Given the description of an element on the screen output the (x, y) to click on. 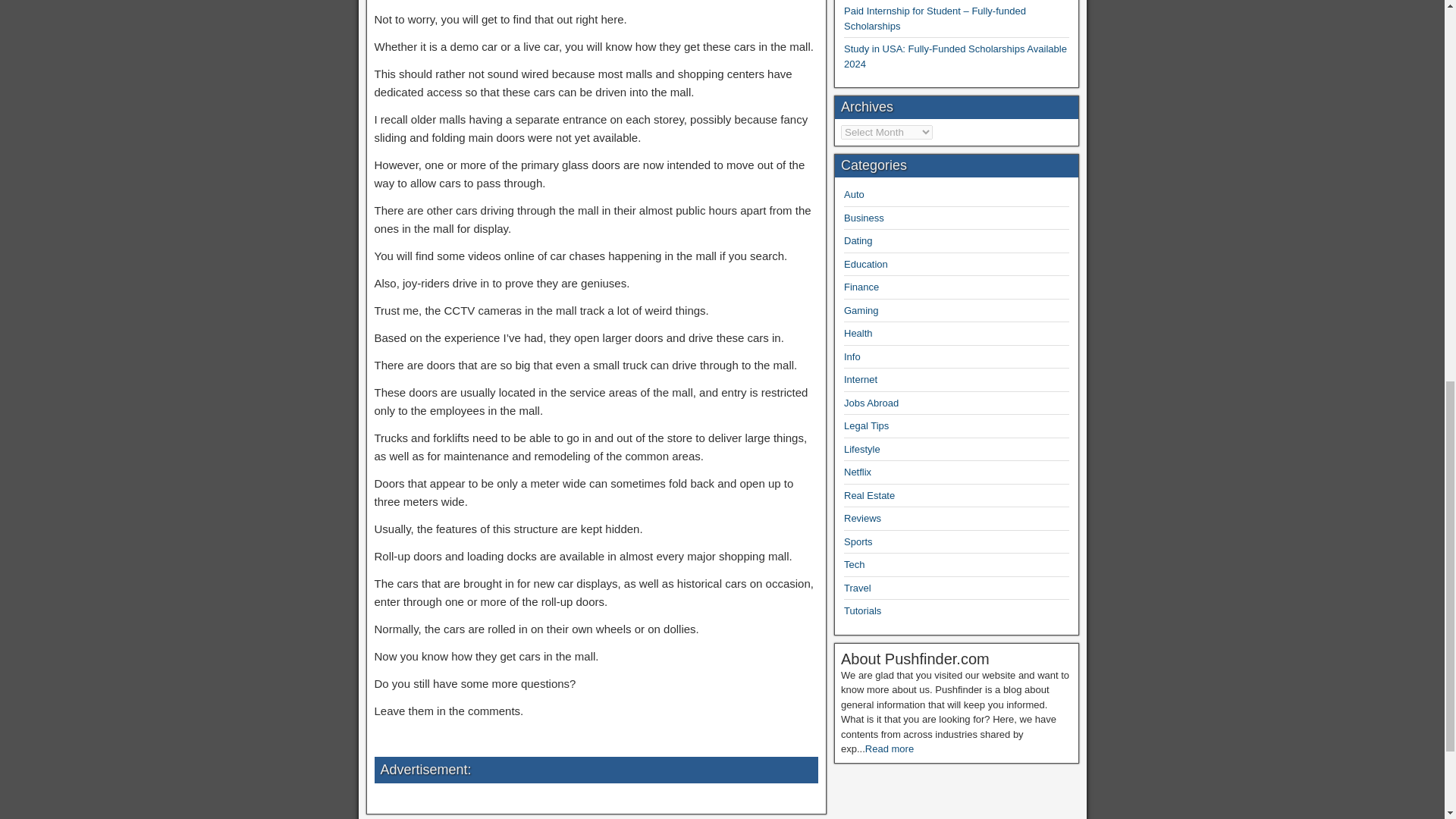
Study in USA: Fully-Funded Scholarships Available 2024 (955, 56)
Business (863, 217)
Health (858, 333)
Gaming (861, 310)
Legal Tips (866, 425)
Internet (860, 378)
Finance (861, 286)
Education (866, 264)
Dating (858, 240)
Info (852, 356)
